Given the description of an element on the screen output the (x, y) to click on. 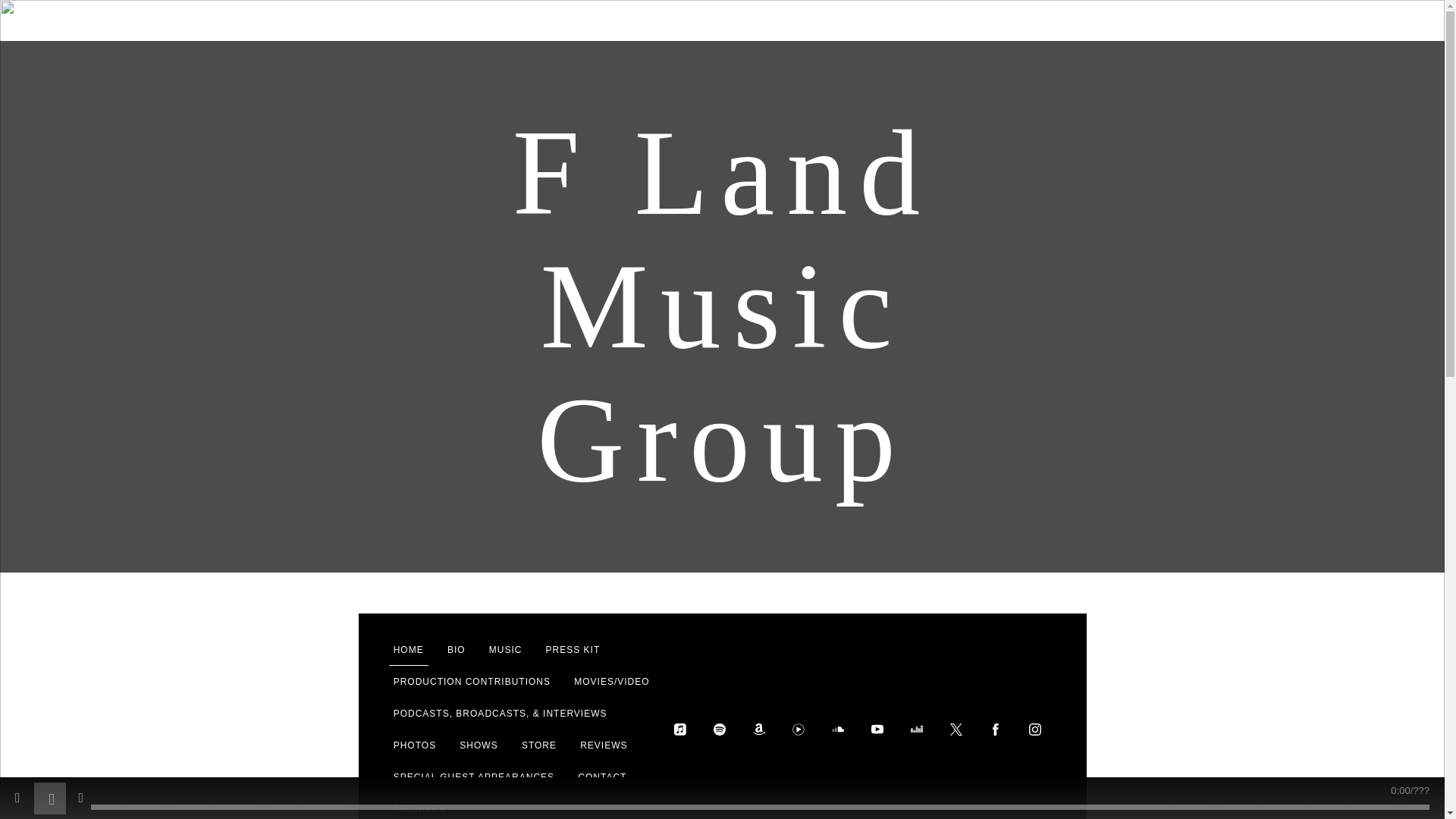
PHOTOS (414, 745)
HOME (408, 649)
SPECIAL GUEST APPEARANCES (473, 777)
REVIEWS (603, 745)
STORE (538, 745)
MUSIC (505, 649)
PRODUCTION CONTRIBUTIONS (471, 681)
F Land Music Group (721, 473)
CONTACT (601, 777)
PRESS KIT (573, 649)
